Given the description of an element on the screen output the (x, y) to click on. 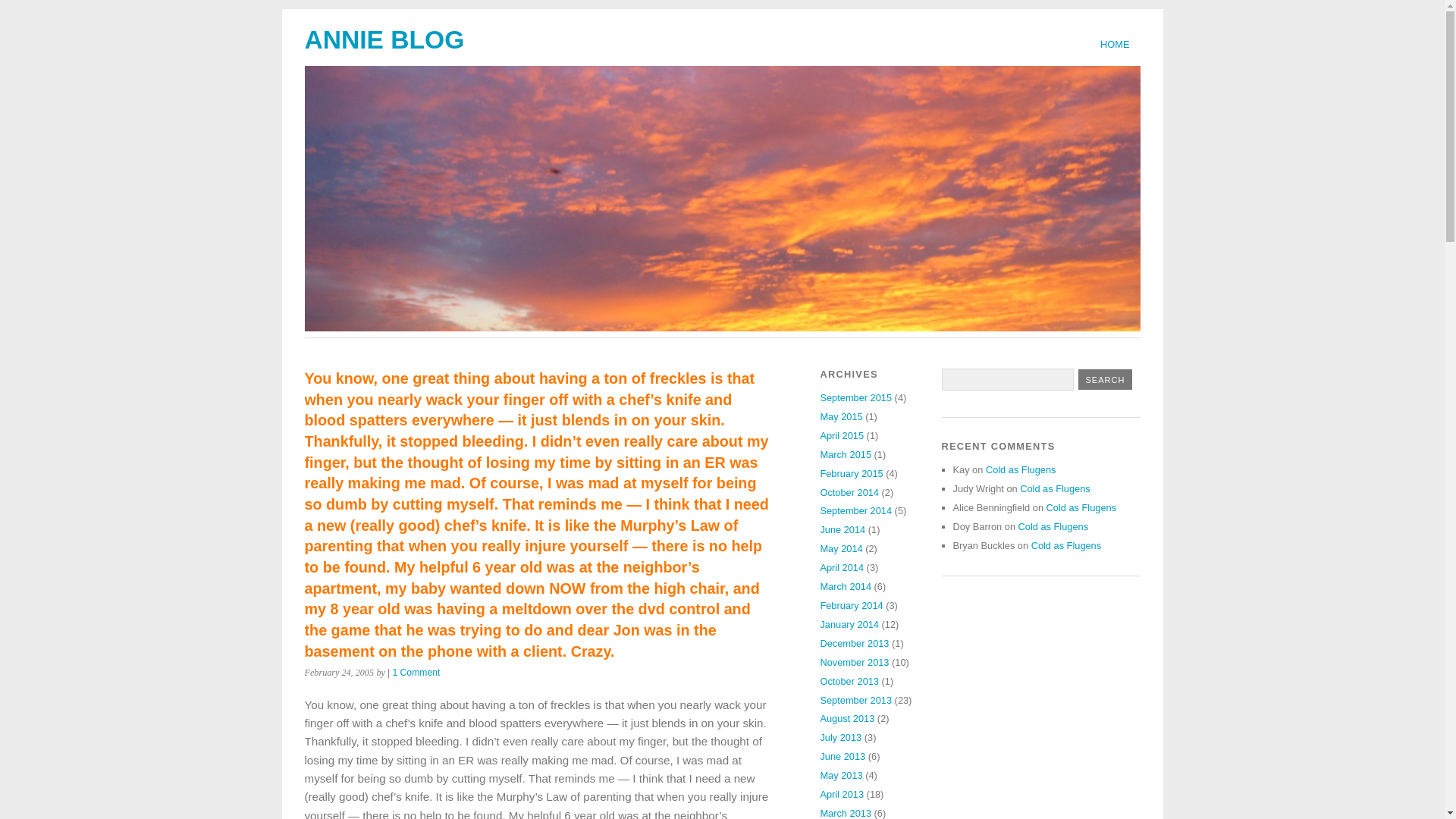
ANNIE BLOG (384, 39)
March 2014 (844, 586)
Search (1105, 379)
December 2013 (853, 643)
May 2013 (840, 775)
February 2014 (850, 604)
September 2014 (855, 510)
HOME (1114, 43)
annie blog (384, 39)
January 2014 (849, 624)
